Given the description of an element on the screen output the (x, y) to click on. 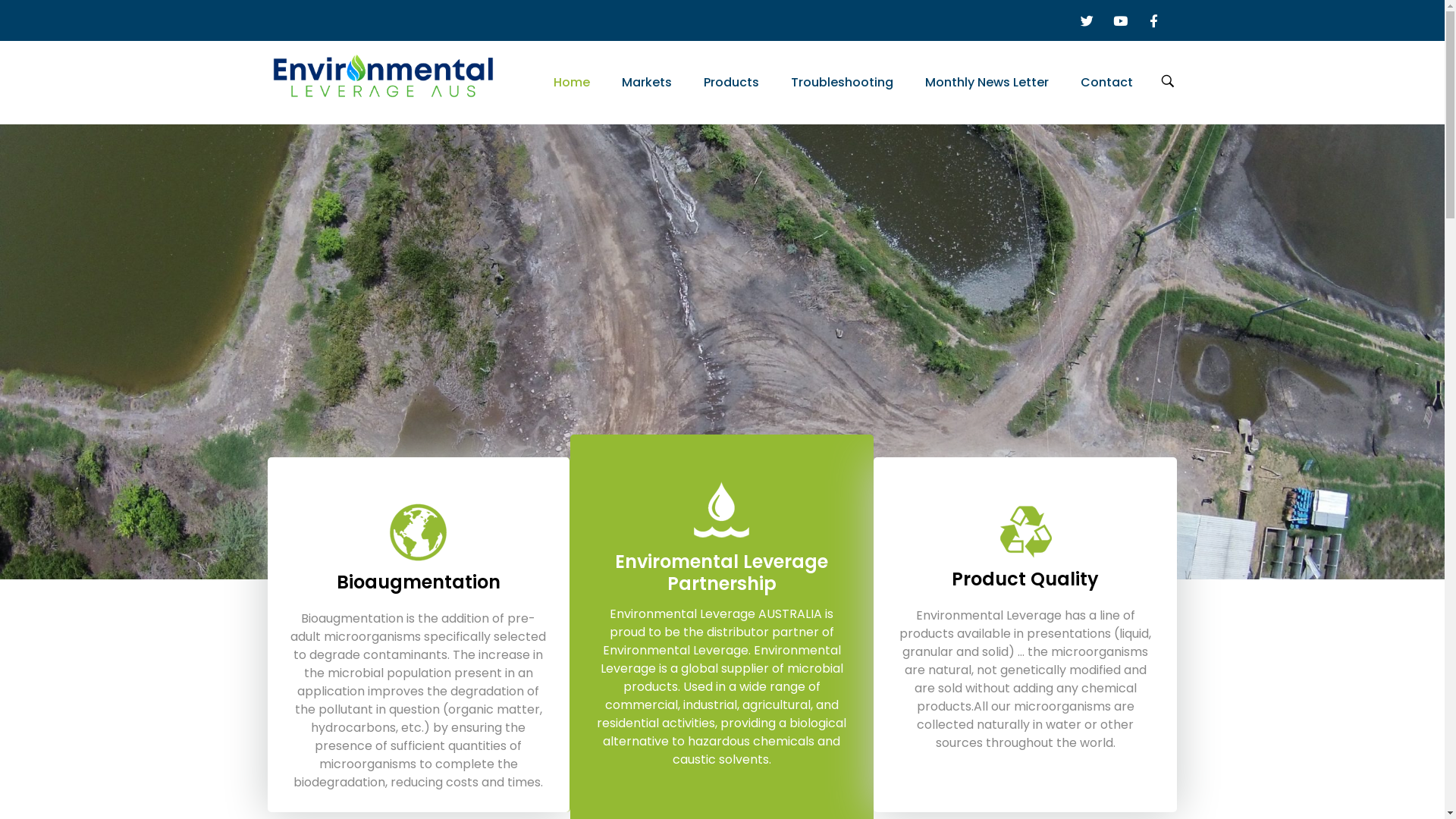
Troubleshooting Element type: text (842, 82)
Products Element type: text (730, 82)
Environment Alleverage Element type: hover (382, 79)
Contact Element type: text (1098, 82)
Home Element type: text (579, 82)
Markets Element type: text (646, 82)
Monthly News Letter Element type: text (985, 82)
Environment Alleverage Element type: text (370, 119)
